Given the description of an element on the screen output the (x, y) to click on. 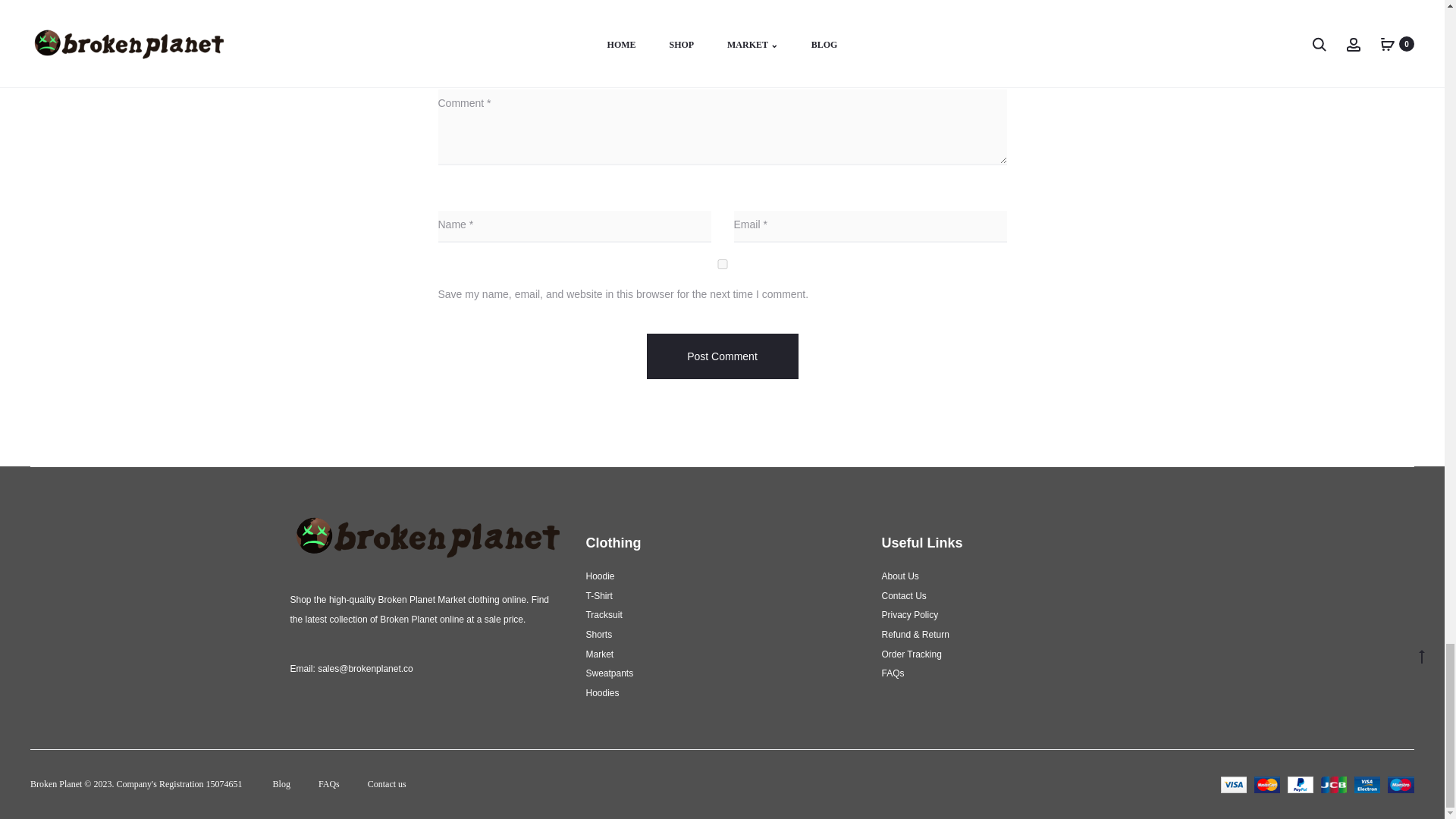
Post Comment (721, 356)
Post Comment (721, 356)
About Us (899, 575)
Hoodies (601, 692)
Shorts (598, 634)
T-Shirt (598, 595)
Sweatpants (609, 673)
Contact Us (903, 595)
Privacy Policy (908, 614)
Market (598, 654)
